Given the description of an element on the screen output the (x, y) to click on. 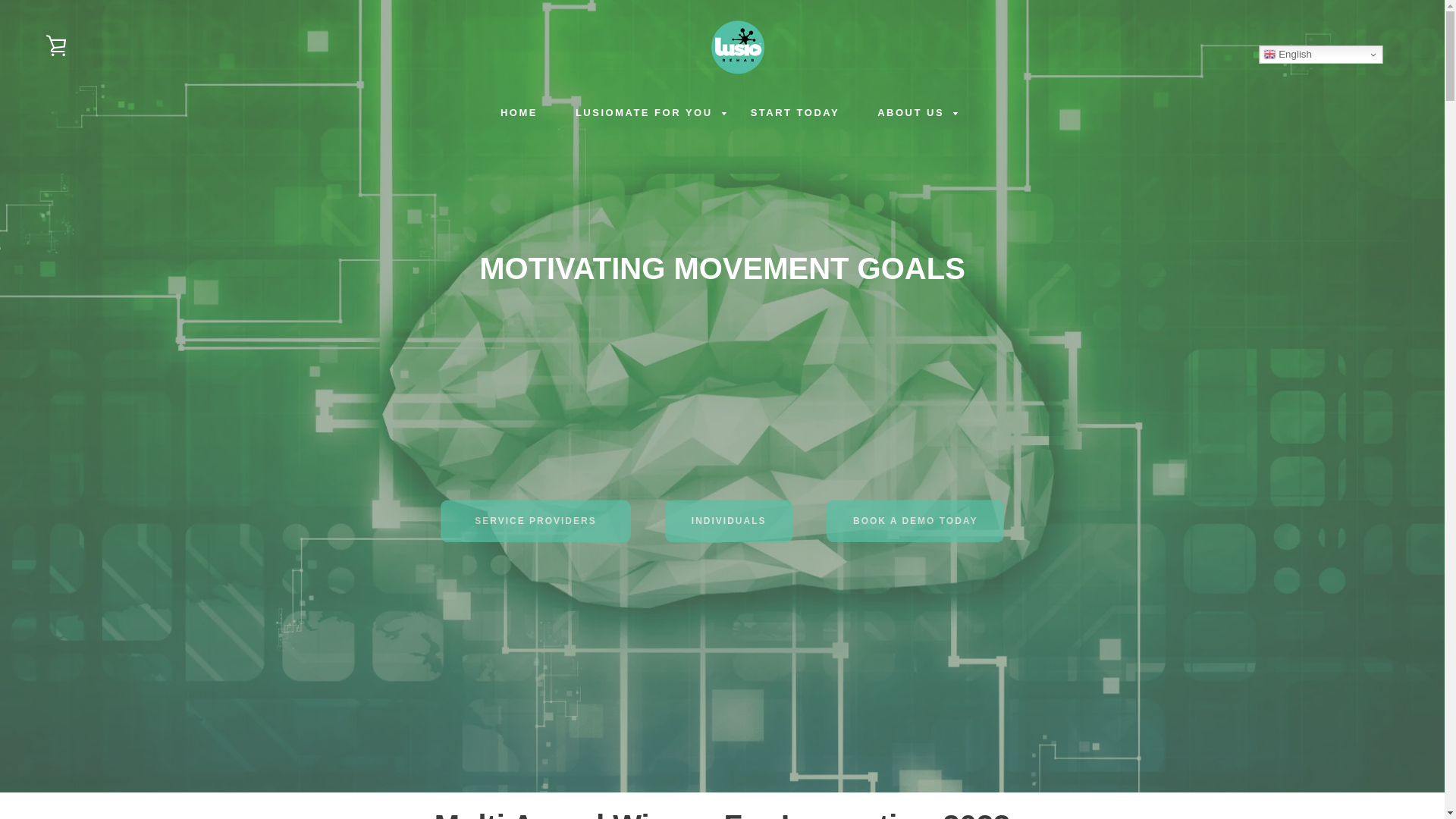
HOME (518, 113)
English (643, 113)
VIEW CART (1320, 54)
START TODAY (910, 113)
